Given the description of an element on the screen output the (x, y) to click on. 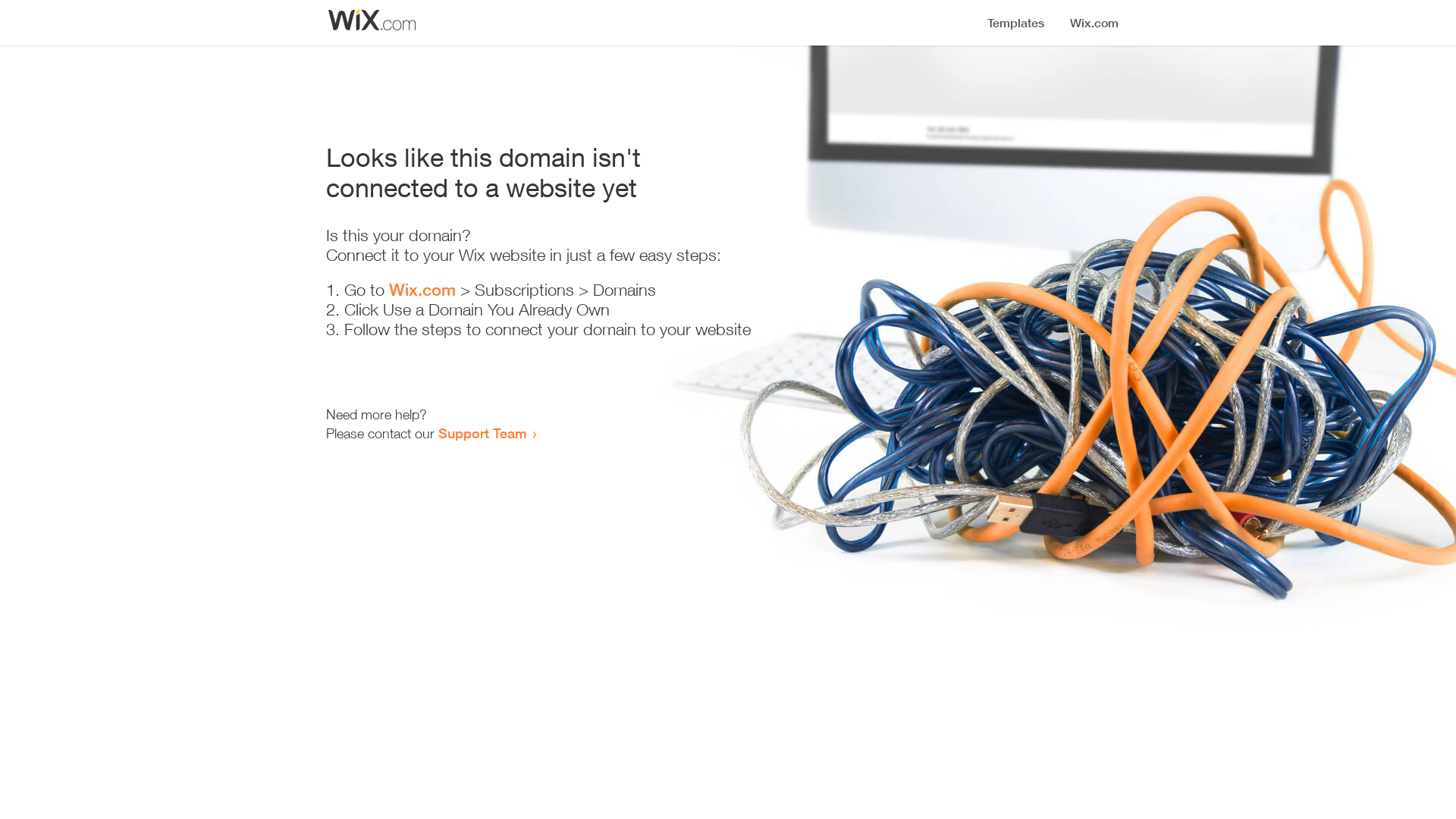
Wix.com Element type: text (422, 289)
Support Team Element type: text (482, 432)
